Given the description of an element on the screen output the (x, y) to click on. 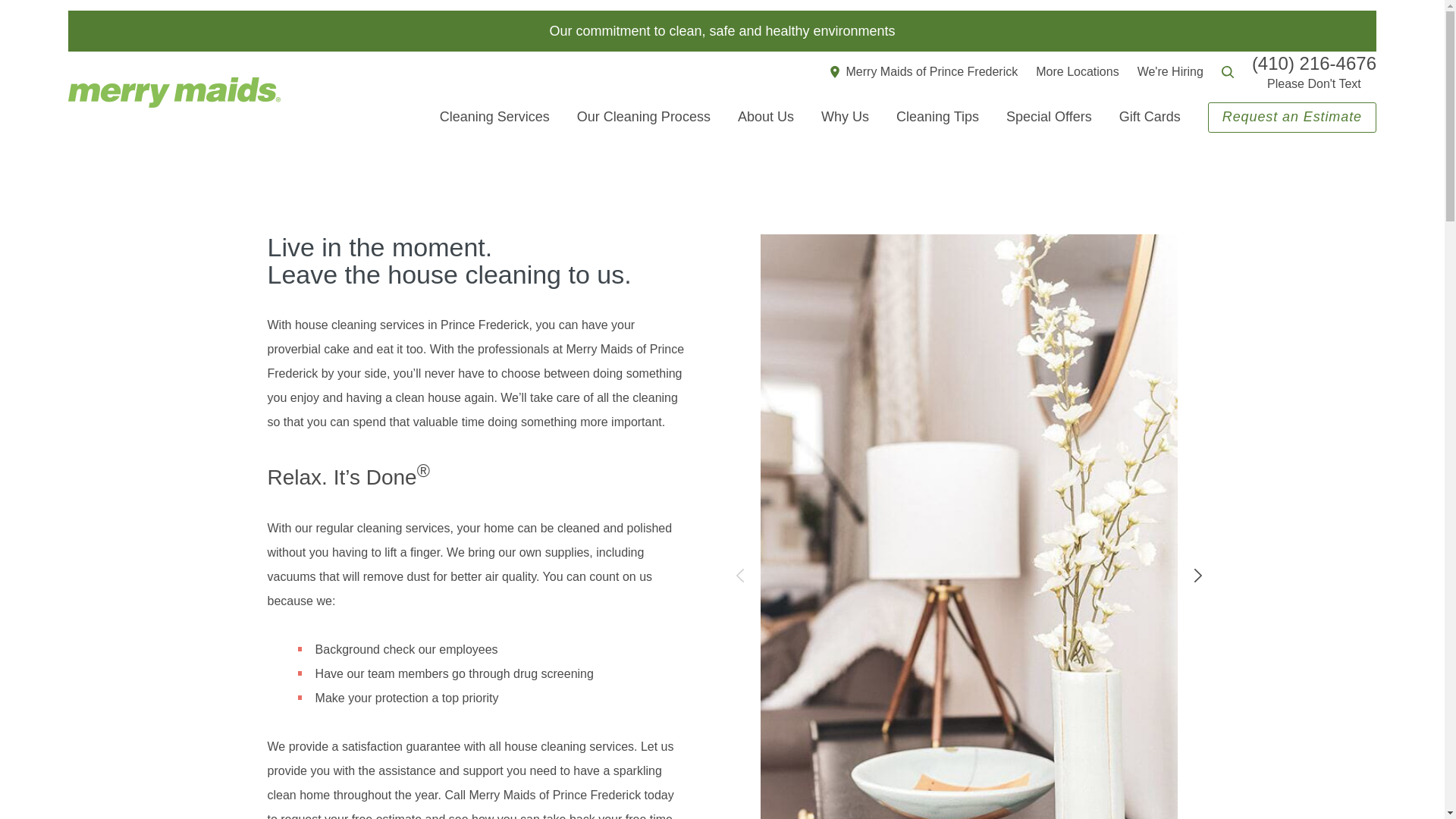
More Locations (1076, 71)
Our Cleaning Process (643, 117)
Cleaning Services (494, 117)
Our commitment to clean, safe and healthy environments (721, 30)
Merry Maids (174, 91)
We're Hiring (1170, 71)
Why Us (845, 117)
About Us (765, 117)
View Previous Item (739, 575)
Cleaning Tips (937, 117)
View Next Item (1196, 575)
